Given the description of an element on the screen output the (x, y) to click on. 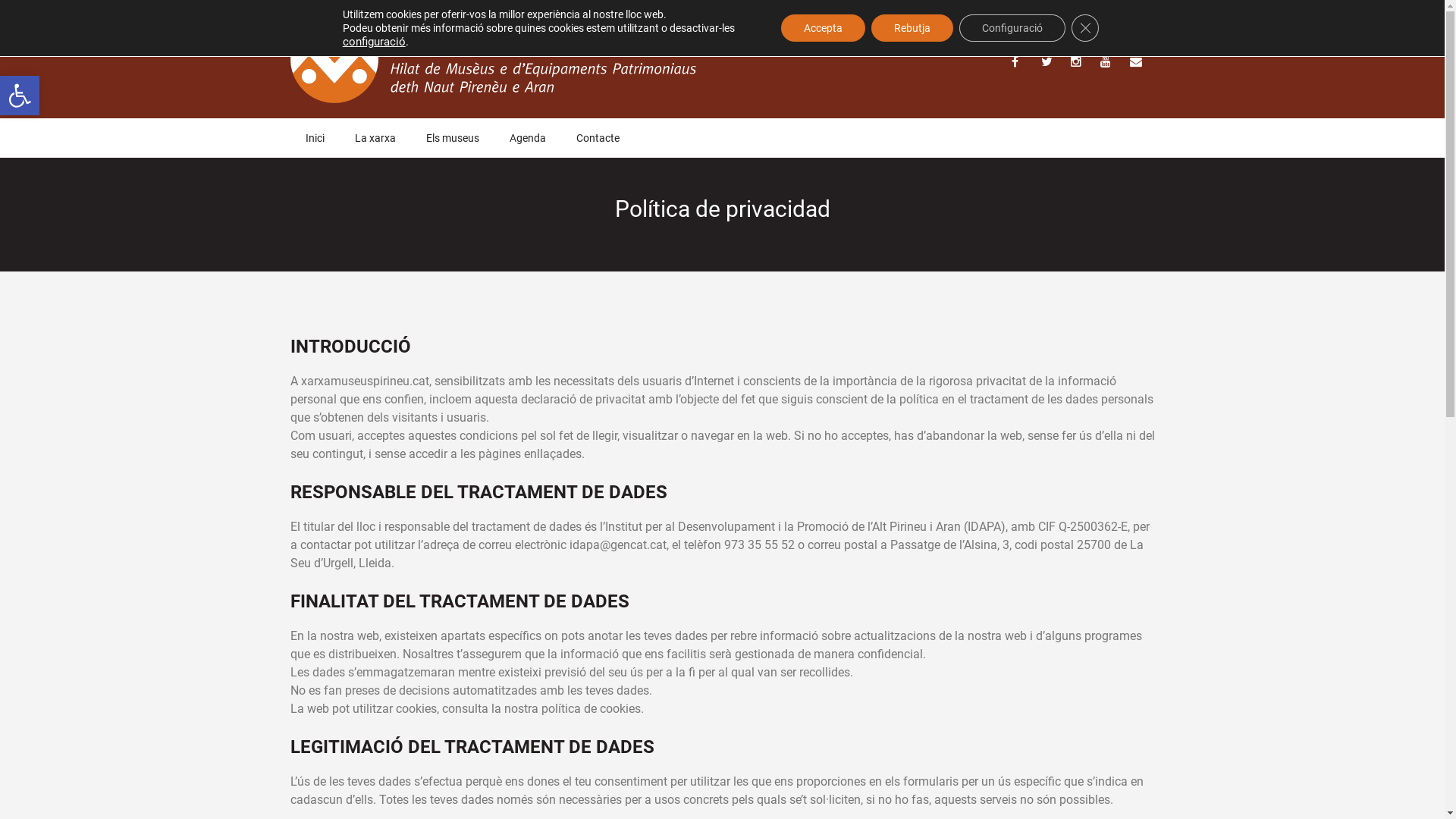
Agenda Element type: text (527, 137)
Inici Element type: text (313, 137)
Accepta Element type: text (823, 27)
Contacte Element type: text (597, 137)
Rebutja Element type: text (912, 27)
Xarxa de Museus del Pirineu -  Element type: hover (492, 23)
Open toolbar
Accessibility Tools Element type: text (19, 95)
La xarxa Element type: text (375, 137)
Els museus Element type: text (452, 137)
